Given the description of an element on the screen output the (x, y) to click on. 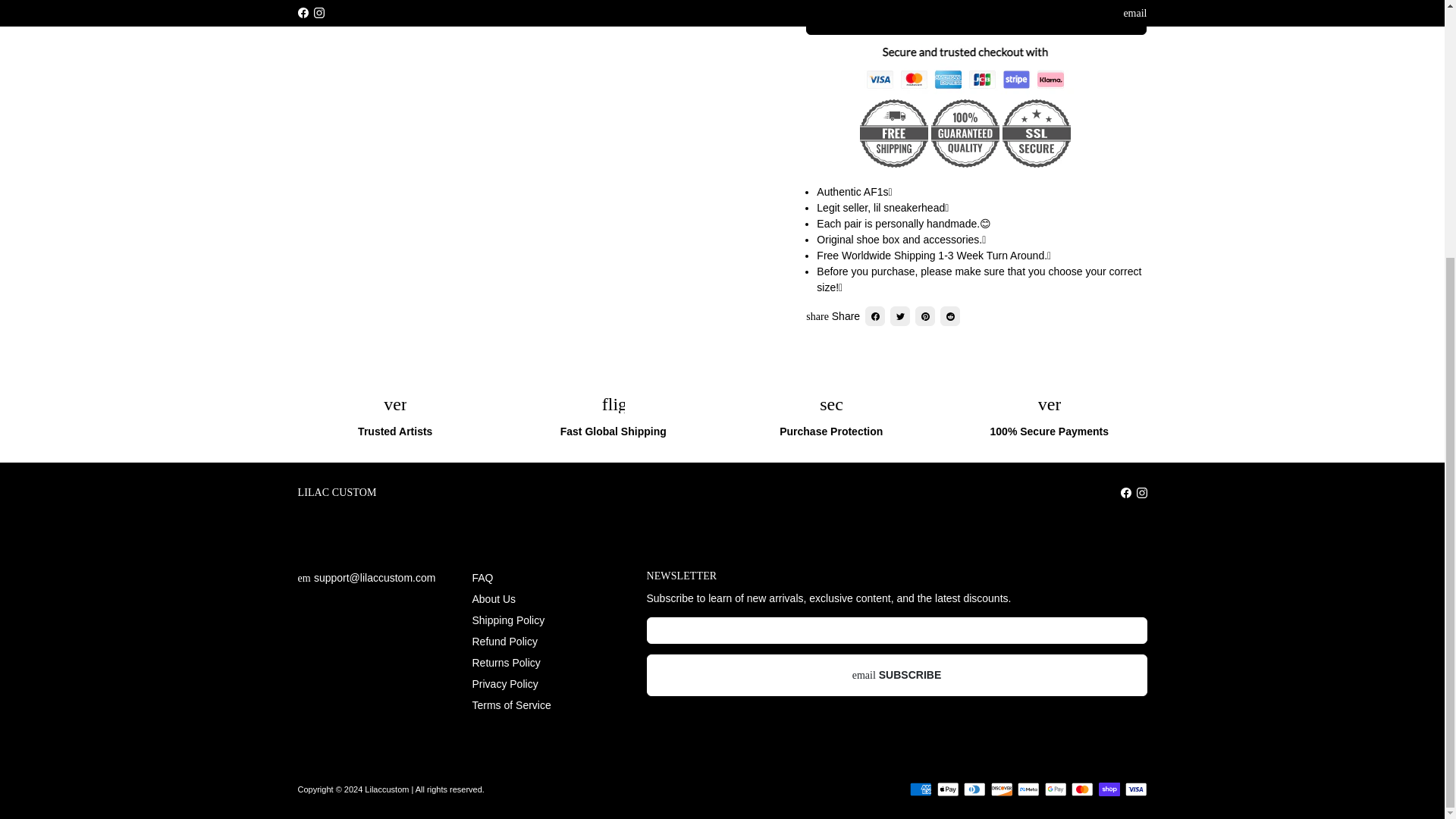
Diners Club (974, 789)
Discover (1000, 789)
Visa (1136, 789)
Share on Facebook (874, 315)
Mastercard (1082, 789)
Meta Pay (1028, 789)
Shop Pay (1108, 789)
American Express (920, 789)
Apple Pay (948, 789)
Google Pay (1056, 789)
Tweet on Twitter (899, 315)
